Given the description of an element on the screen output the (x, y) to click on. 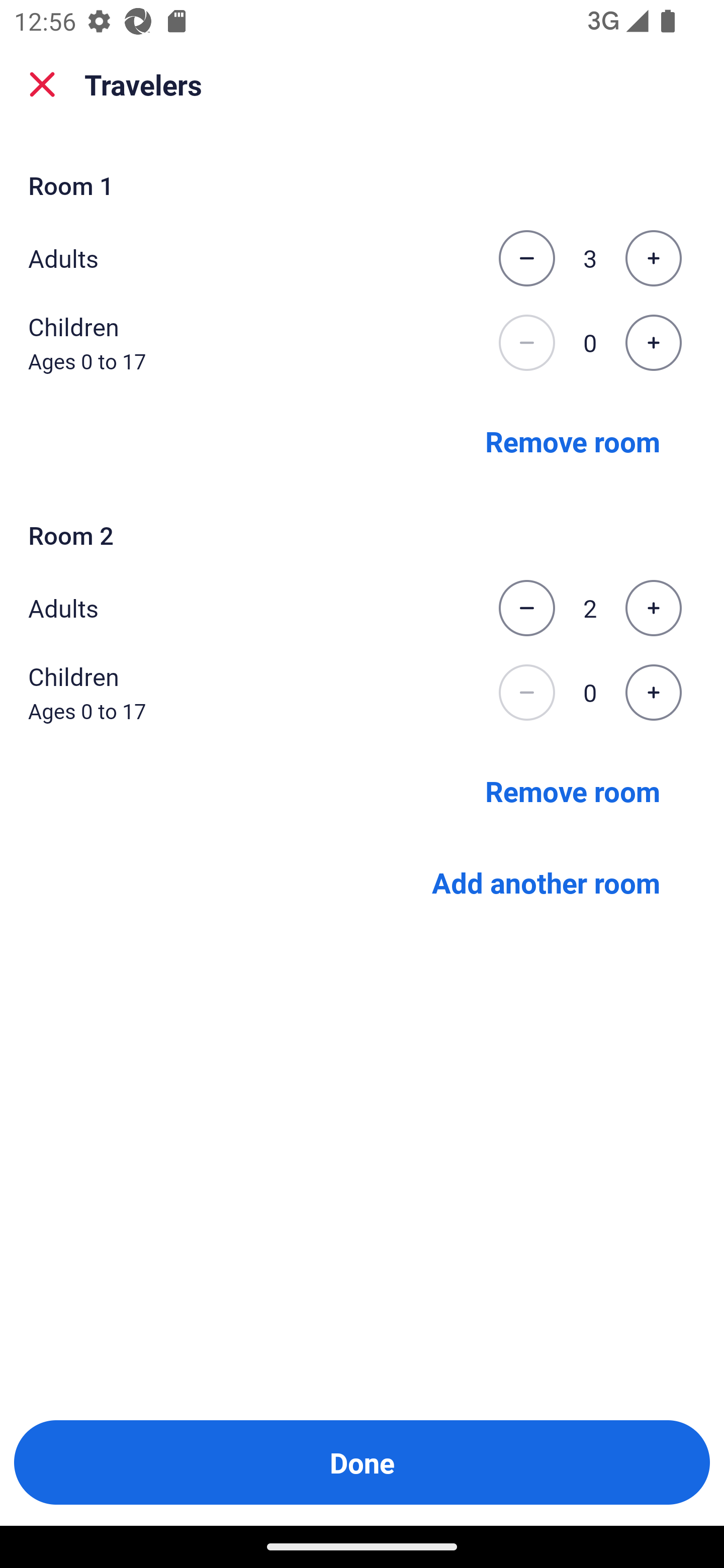
close (42, 84)
Decrease the number of adults (526, 258)
Increase the number of adults (653, 258)
Decrease the number of children (526, 343)
Increase the number of children (653, 343)
Remove room (572, 440)
Decrease the number of adults (526, 608)
Increase the number of adults (653, 608)
Decrease the number of children (526, 692)
Increase the number of children (653, 692)
Remove room (572, 790)
Add another room (545, 882)
Done (361, 1462)
